Given the description of an element on the screen output the (x, y) to click on. 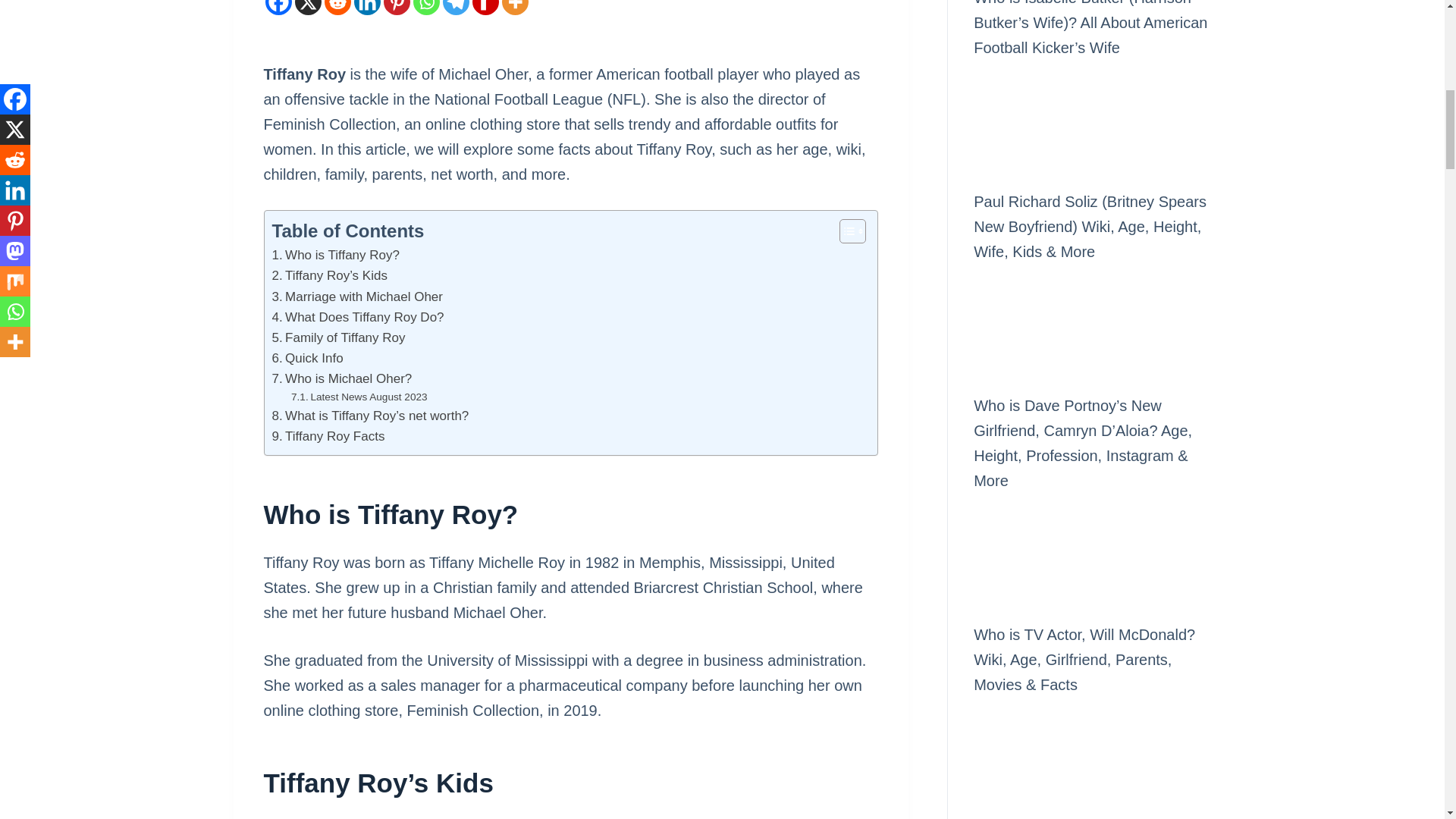
Facebook (278, 7)
Rediff MyPage (484, 7)
More (515, 7)
What Does Tiffany Roy Do? (357, 317)
Pinterest (397, 7)
Whatsapp (425, 7)
Telegram (455, 7)
Linkedin (366, 7)
Reddit (337, 7)
Who is Tiffany Roy? (334, 254)
X (307, 7)
Marriage with Michael Oher (356, 296)
